Given the description of an element on the screen output the (x, y) to click on. 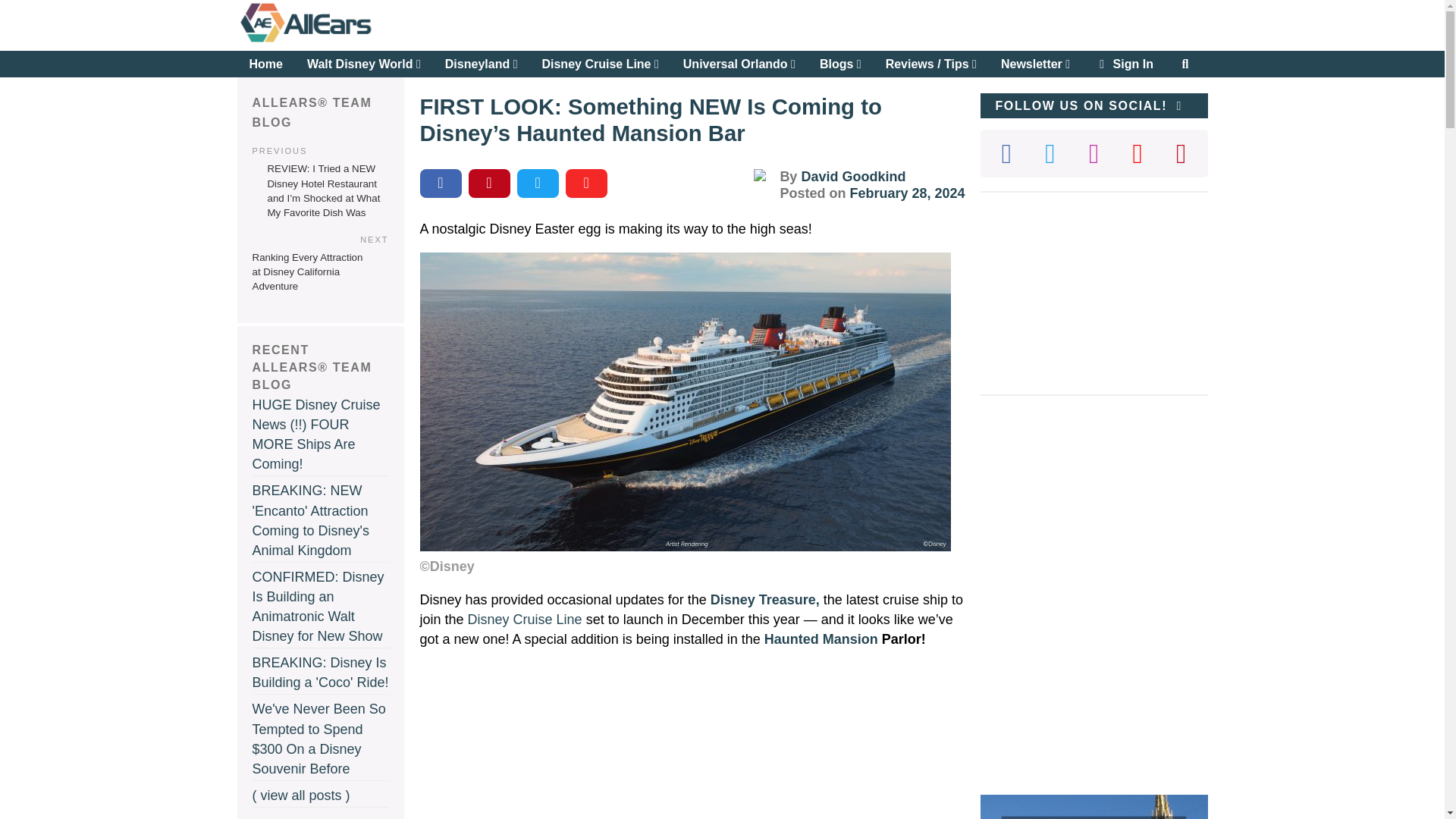
Walt Disney World (363, 63)
Return to AllEars.Net Home Page (351, 40)
Disneyland (480, 63)
Home (264, 63)
